Given the description of an element on the screen output the (x, y) to click on. 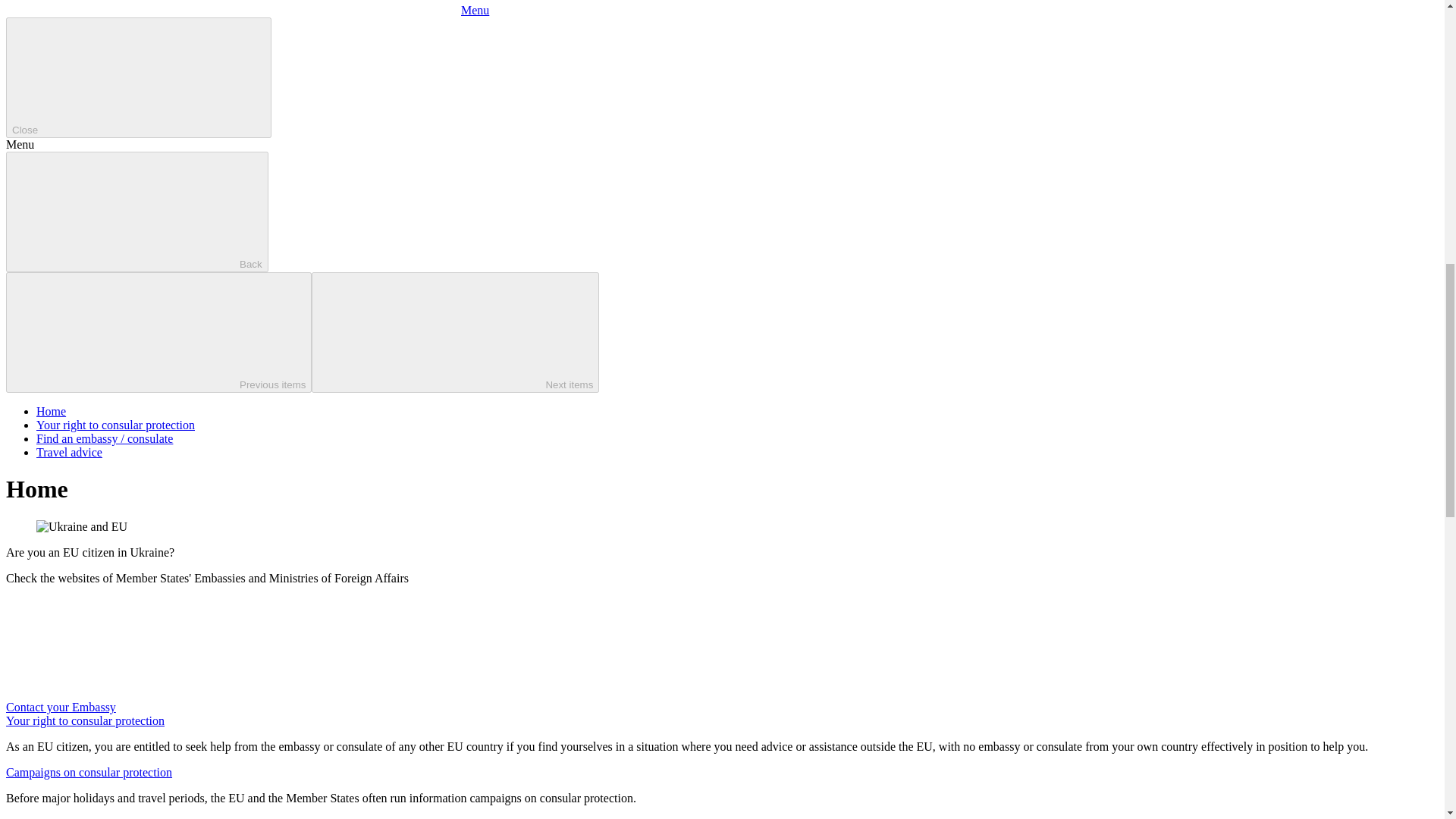
Previous items (158, 332)
Contact your Embassy (174, 707)
Back (136, 211)
Your right to consular protection (115, 424)
Your right to consular protection (84, 720)
Next items (454, 332)
Travel advice (68, 451)
Home (50, 410)
Campaigns on consular protection (88, 771)
Close (137, 77)
